Given the description of an element on the screen output the (x, y) to click on. 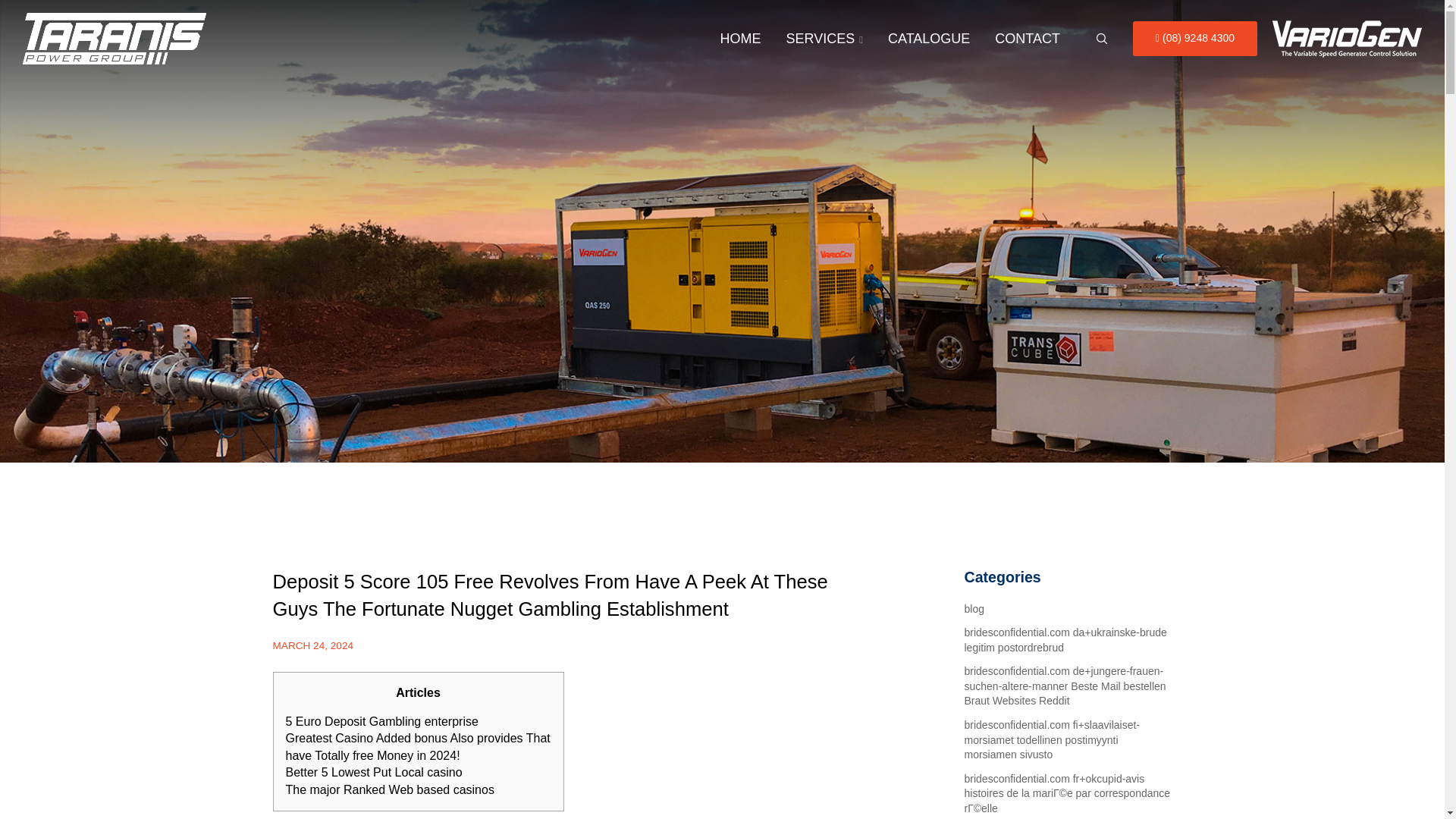
Better 5 Lowest Put Local casino (373, 771)
5 Euro Deposit Gambling enterprise (381, 721)
The major Ranked Web based casinos (389, 789)
blog (973, 607)
HOME (740, 39)
CATALOGUE (928, 39)
CONTACT (1027, 39)
SERVICES (823, 39)
